Given the description of an element on the screen output the (x, y) to click on. 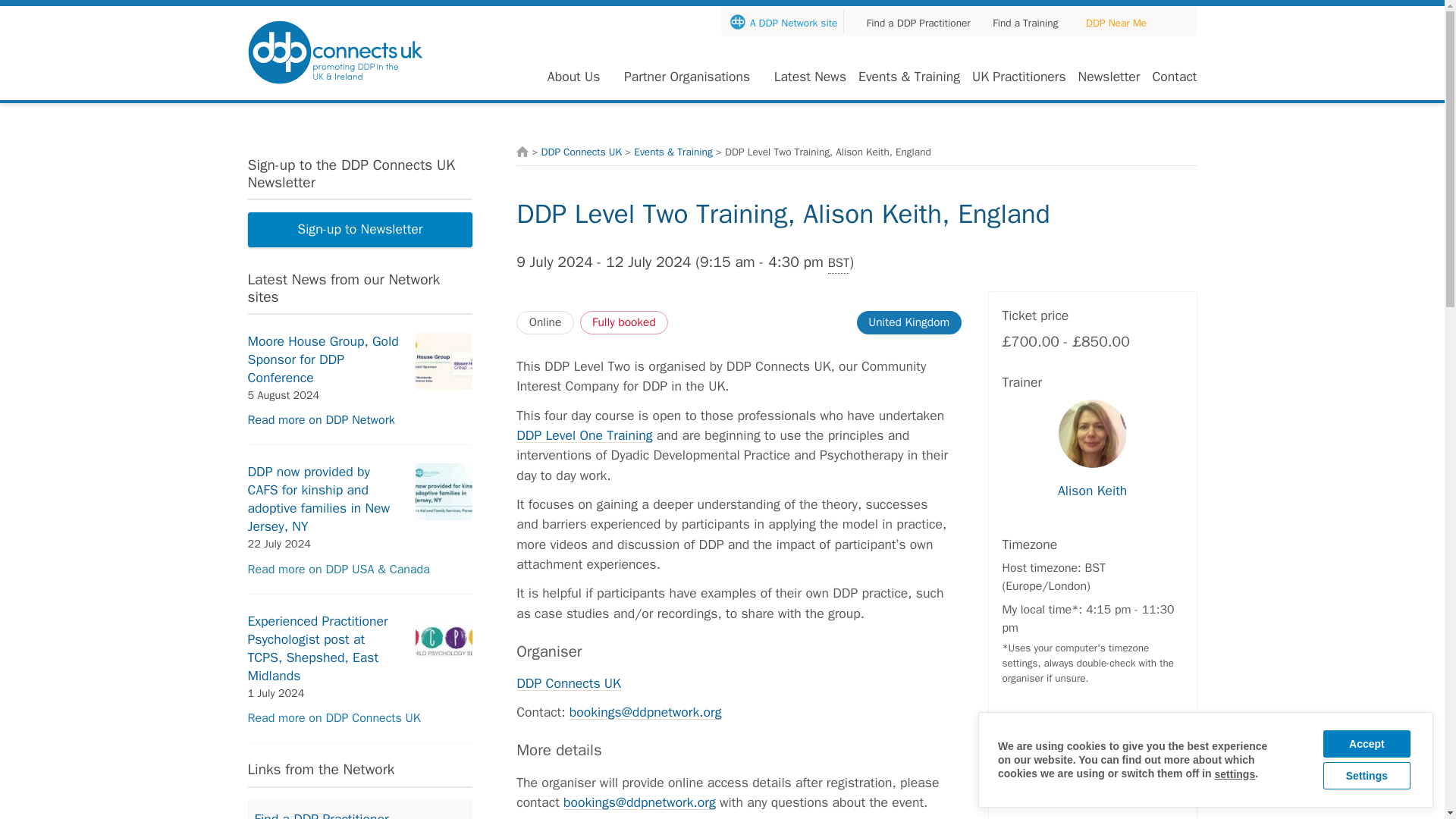
Contact (1173, 76)
Go to DDP Network. (522, 151)
Find a Training (1018, 22)
Partner Organisations (686, 76)
Latest News (809, 76)
Partner Organisations (686, 76)
Newsletter (1109, 76)
Network Sites (1115, 22)
About Us (573, 76)
About Us (573, 76)
Latest News (809, 76)
Newsletter (1109, 76)
Search (1182, 21)
UK Practitioners (1018, 76)
DDP Level One Training (584, 434)
